Given the description of an element on the screen output the (x, y) to click on. 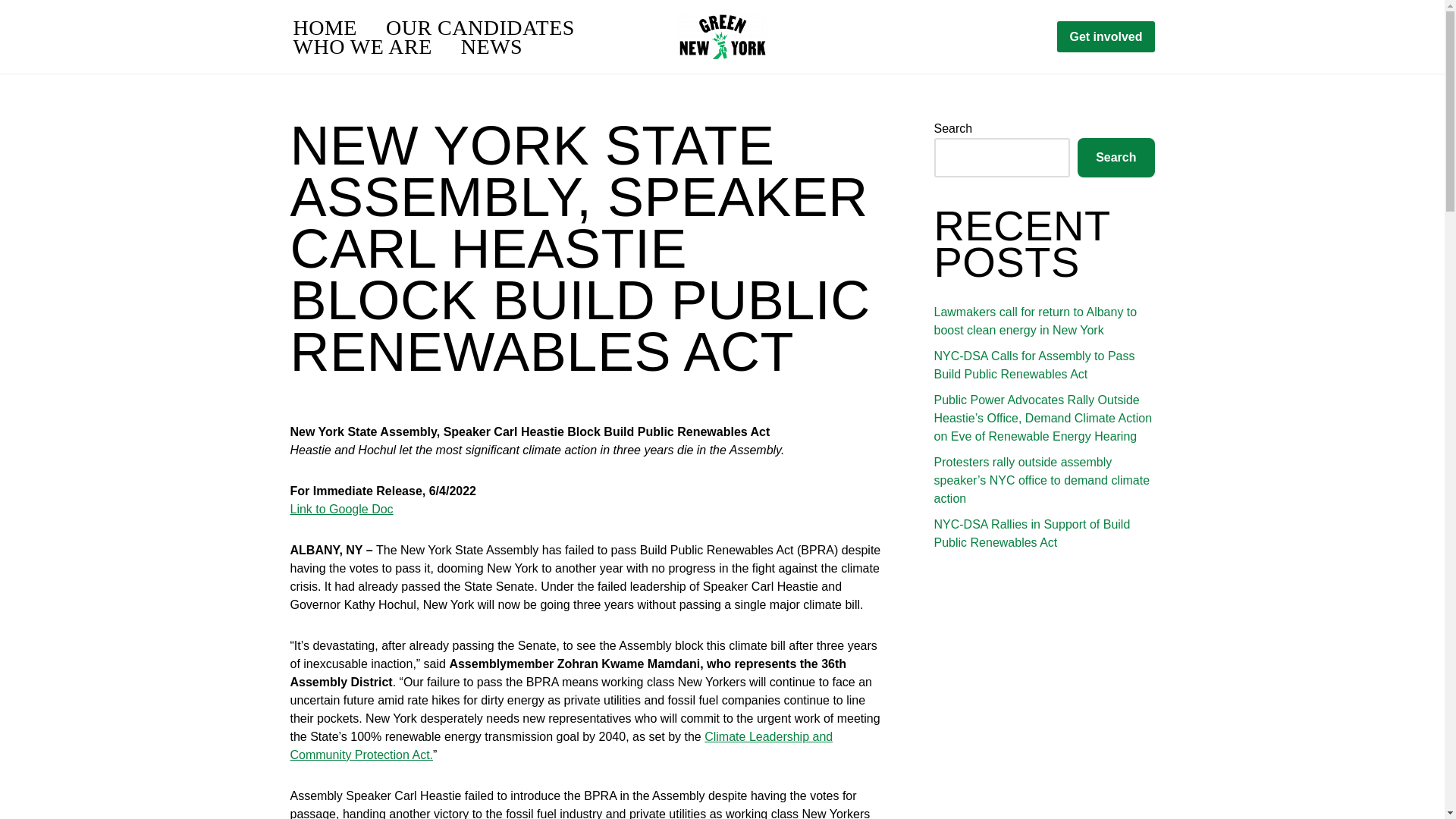
NEWS (491, 46)
OUR CANDIDATES (480, 27)
WHO WE ARE (361, 46)
Get involved (1105, 37)
Climate Leadership and Community Protection Act. (560, 745)
Search (1115, 157)
Skip to content (11, 31)
HOME (324, 27)
Link to Google Doc (341, 508)
NYC-DSA Rallies in Support of Build Public Renewables Act (1032, 532)
